Given the description of an element on the screen output the (x, y) to click on. 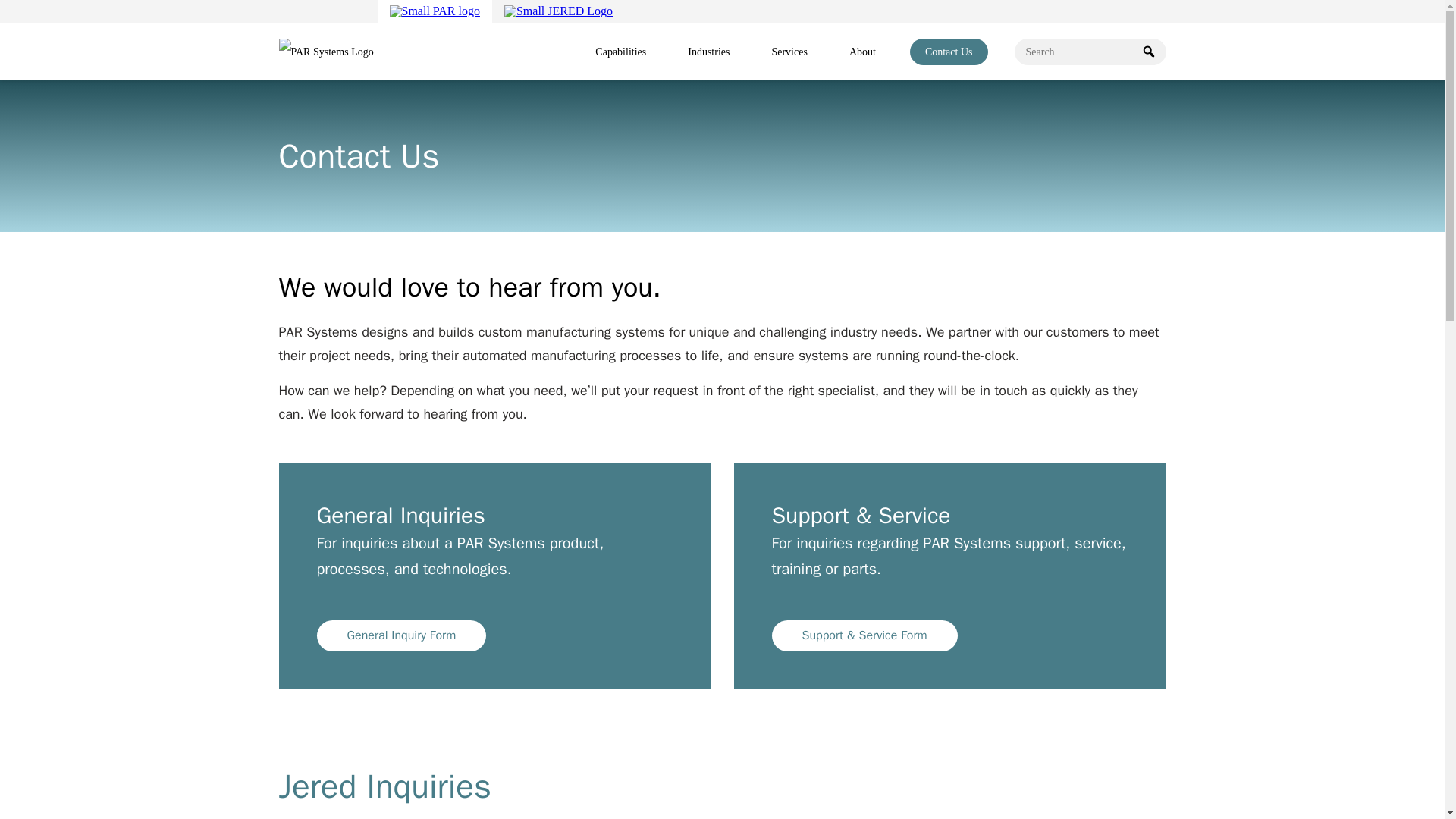
Capabilities (620, 51)
